Given the description of an element on the screen output the (x, y) to click on. 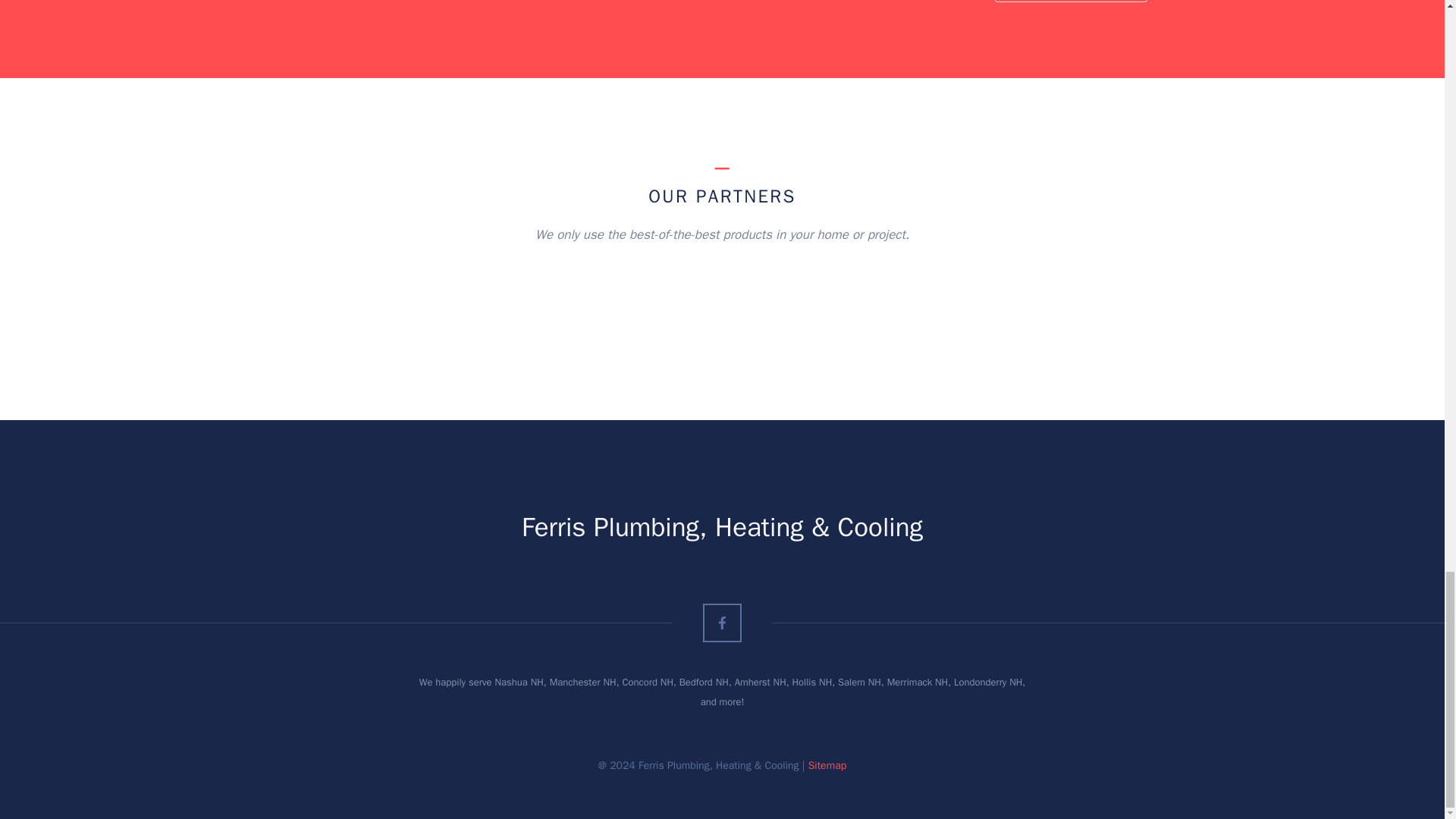
Get a quote here! (1070, 1)
Sitemap (827, 765)
